Given the description of an element on the screen output the (x, y) to click on. 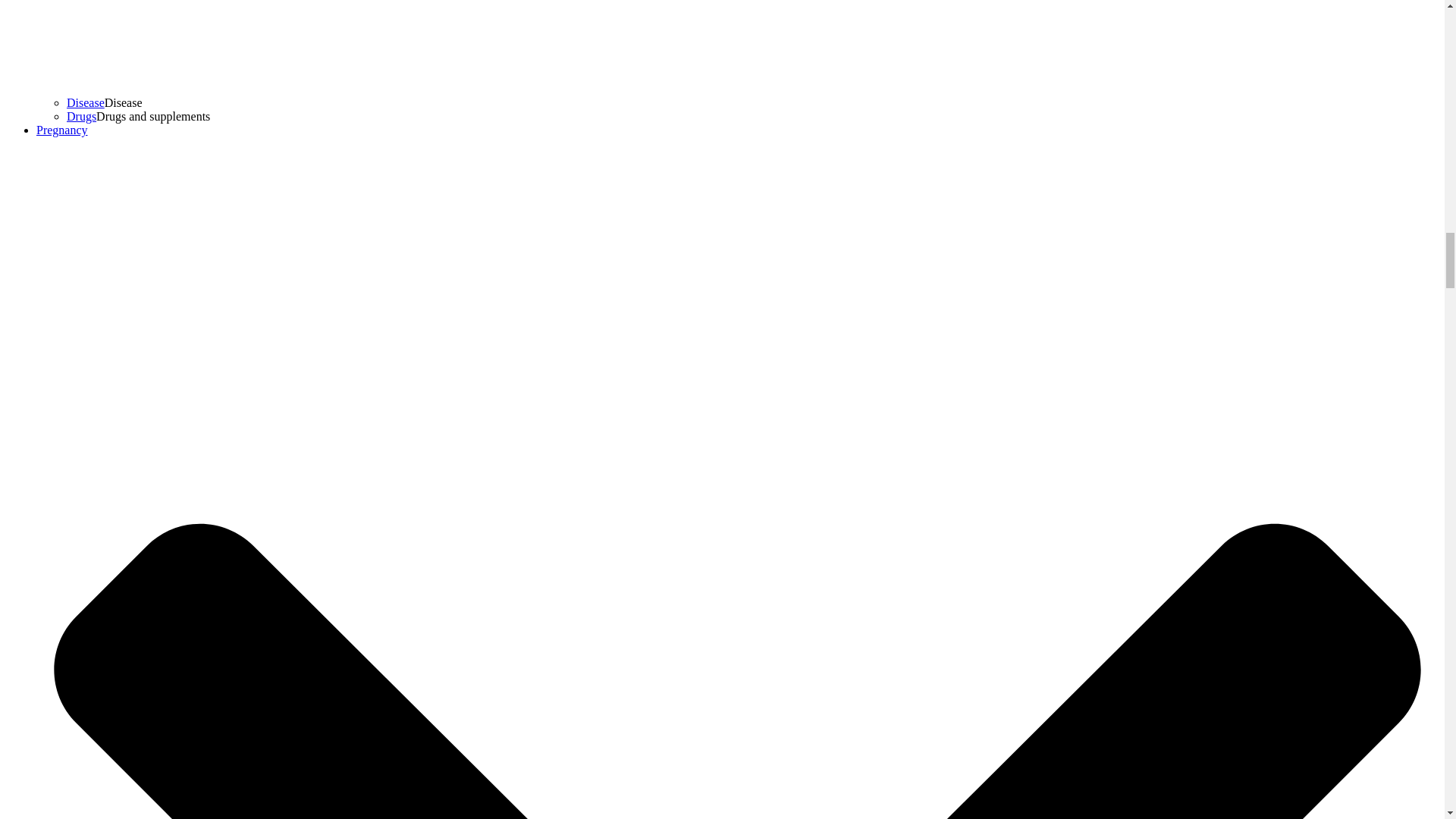
Disease (85, 102)
Drugs (81, 115)
Drugs (81, 115)
Disease (85, 102)
